Given the description of an element on the screen output the (x, y) to click on. 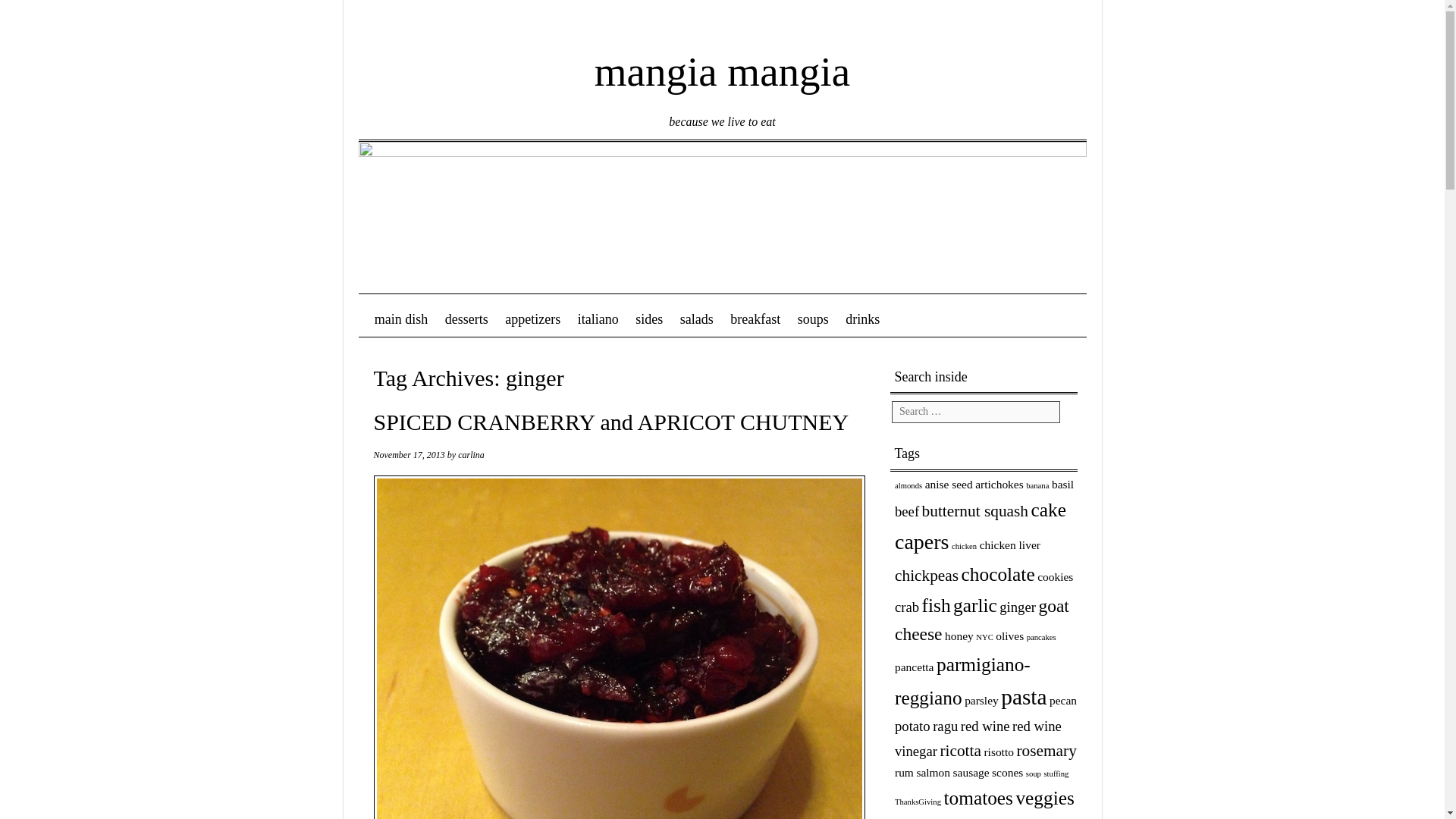
carlina (471, 454)
desserts (466, 319)
banana (1037, 485)
mangia mangia (722, 61)
sides (649, 319)
Search (40, 21)
breakfast (755, 319)
anise seed (948, 483)
main dish (400, 319)
appetizers (532, 319)
